Given the description of an element on the screen output the (x, y) to click on. 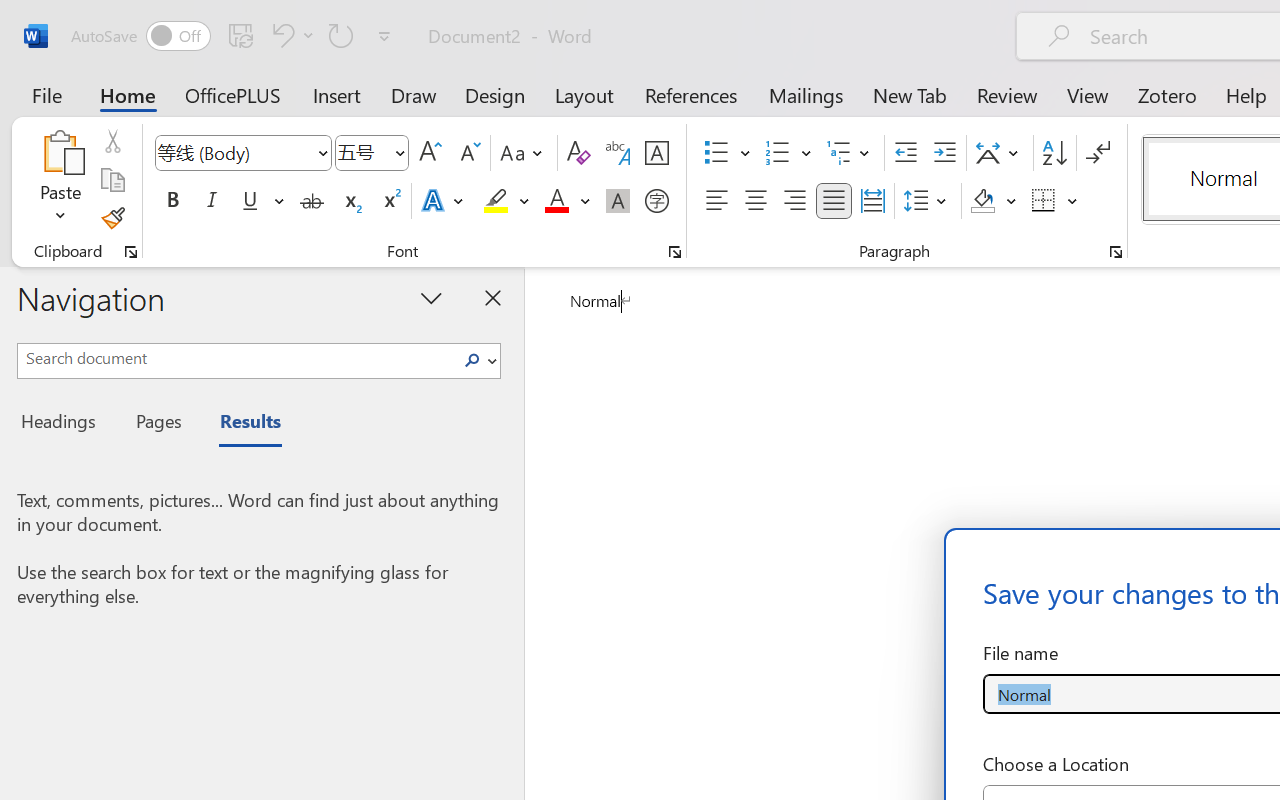
Text Highlight Color Yellow (495, 201)
Headings (64, 424)
Center (756, 201)
AutoSave (140, 35)
Italic (212, 201)
Repeat Style (341, 35)
Change Case (524, 153)
Shrink Font (468, 153)
Justify (834, 201)
Design (495, 94)
Sort... (1054, 153)
View (1087, 94)
